Given the description of an element on the screen output the (x, y) to click on. 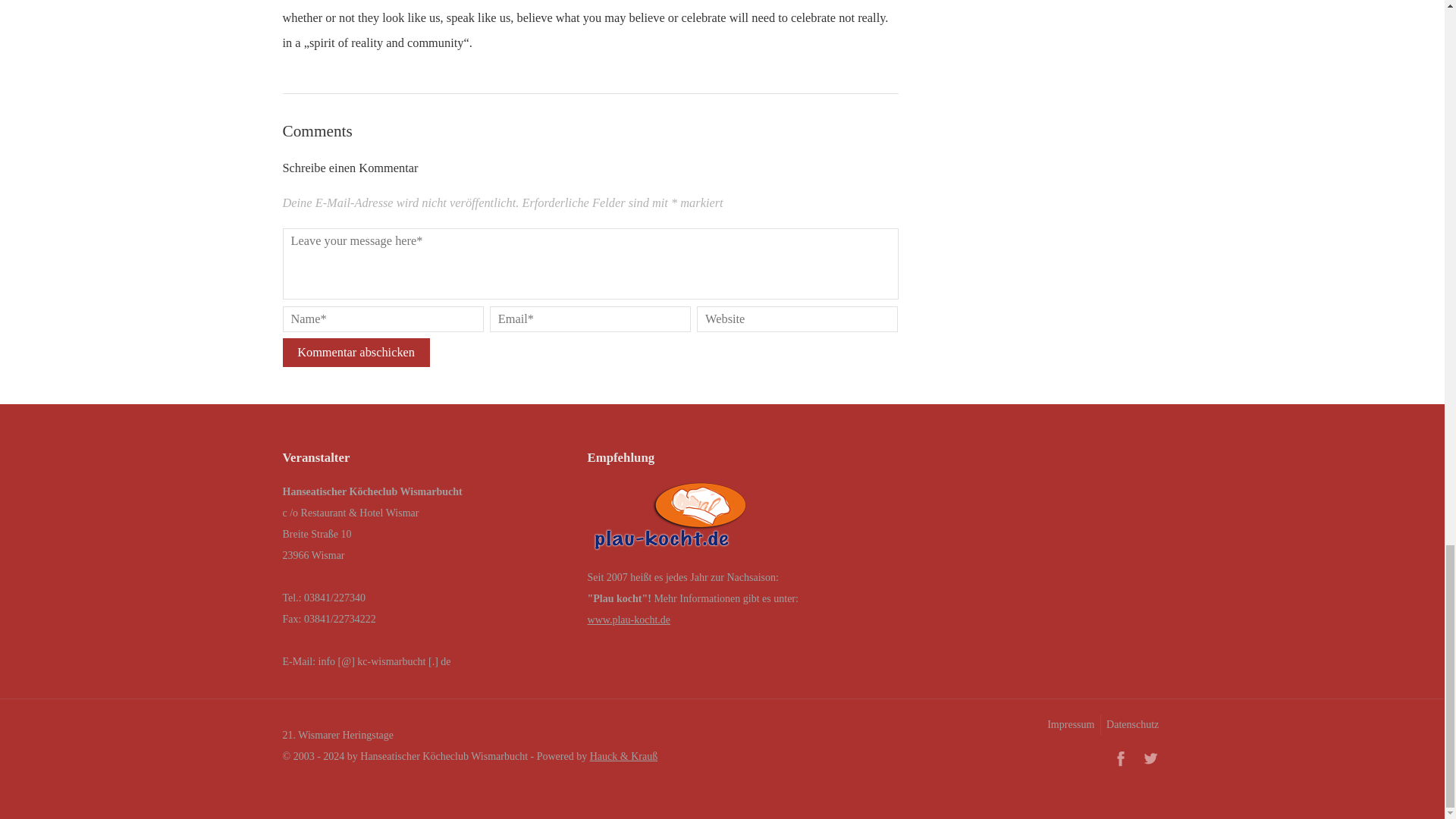
Facebook (1120, 758)
Twitter (1149, 758)
Kommentar abschicken (355, 352)
Datenschutz (1130, 724)
Kommentar abschicken (355, 352)
www.plau-kocht.de (629, 619)
plau-kocht-logo (671, 520)
Impressum (1069, 724)
